Given the description of an element on the screen output the (x, y) to click on. 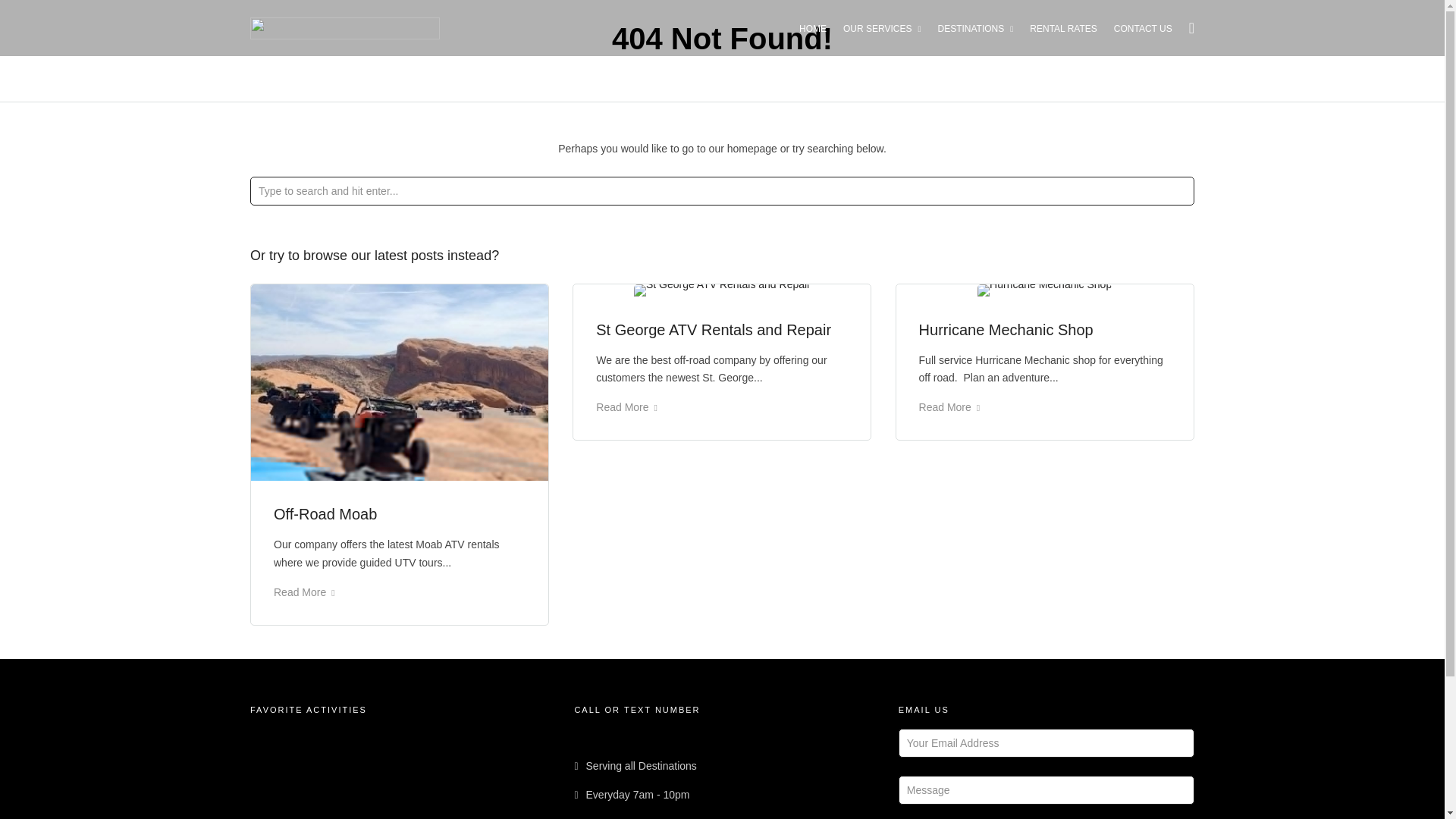
Hurricane Mechanic Shop (1005, 329)
Off-Road Moab (325, 514)
St George ATV Rentals and Repair (713, 329)
